Given the description of an element on the screen output the (x, y) to click on. 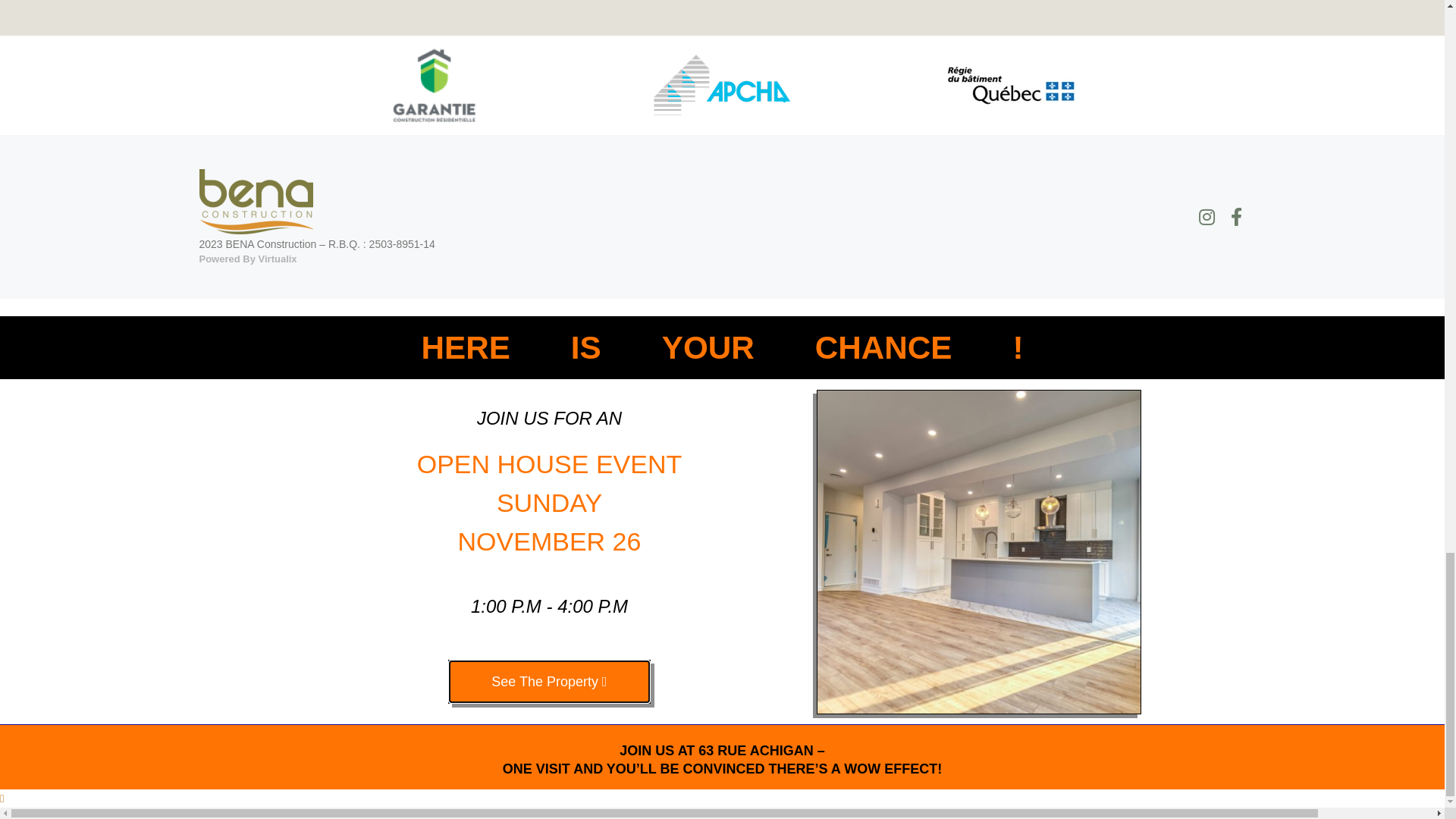
cropped-logo.png Element type: hover (76, 87)
Projects Element type: text (953, 87)
Listings Element type: text (1114, 87)
Rentals Element type: text (1189, 87)
(819) 682-0501 Element type: text (58, 16)
ventes@bena.ca Element type: text (176, 16)
FR Element type: text (1409, 87)
Contact Us Element type: text (1339, 87)
About Element type: text (1259, 87)
Models Element type: text (1036, 87)
